Given the description of an element on the screen output the (x, y) to click on. 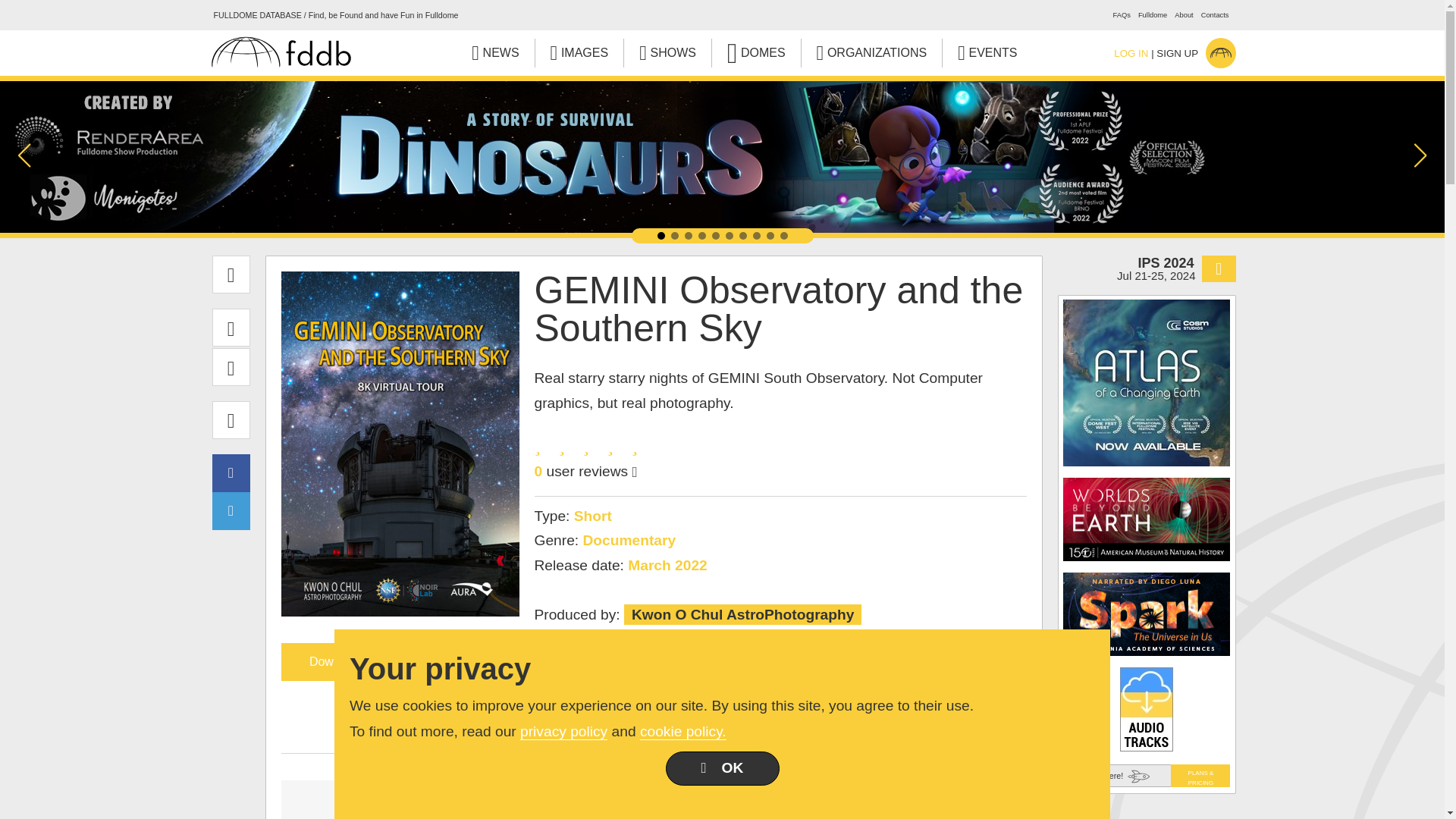
Fulldome (1152, 14)
The video is missing (653, 799)
SHOWS (667, 52)
EVENTS (987, 52)
ORGANIZATIONS (871, 52)
Contacts (1214, 14)
The video is missing (404, 799)
IMAGES (579, 52)
NEWS (494, 52)
About (1183, 14)
Full preview (902, 799)
2024 IPS Conference (1145, 268)
privacy policy (563, 731)
OK (721, 768)
cookie policy. (683, 731)
